Given the description of an element on the screen output the (x, y) to click on. 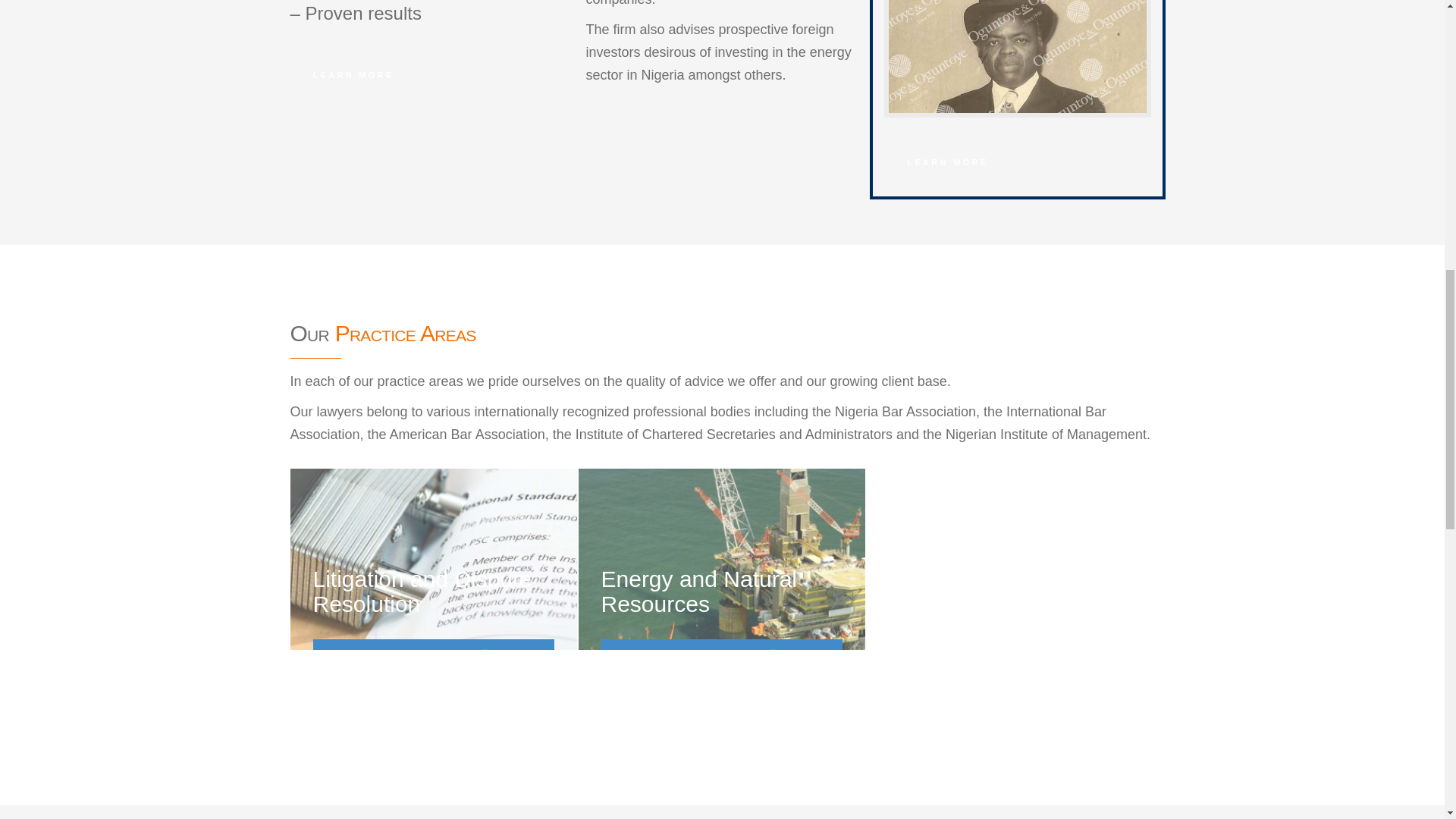
KNOW MORE (720, 656)
Litigation and Dispute Resolution (422, 591)
MORE SERVICES (362, 694)
LEARN MORE (352, 74)
LEARN MORE (946, 162)
Energy and Natural Resources (697, 591)
KNOW MORE (433, 656)
